Given the description of an element on the screen output the (x, y) to click on. 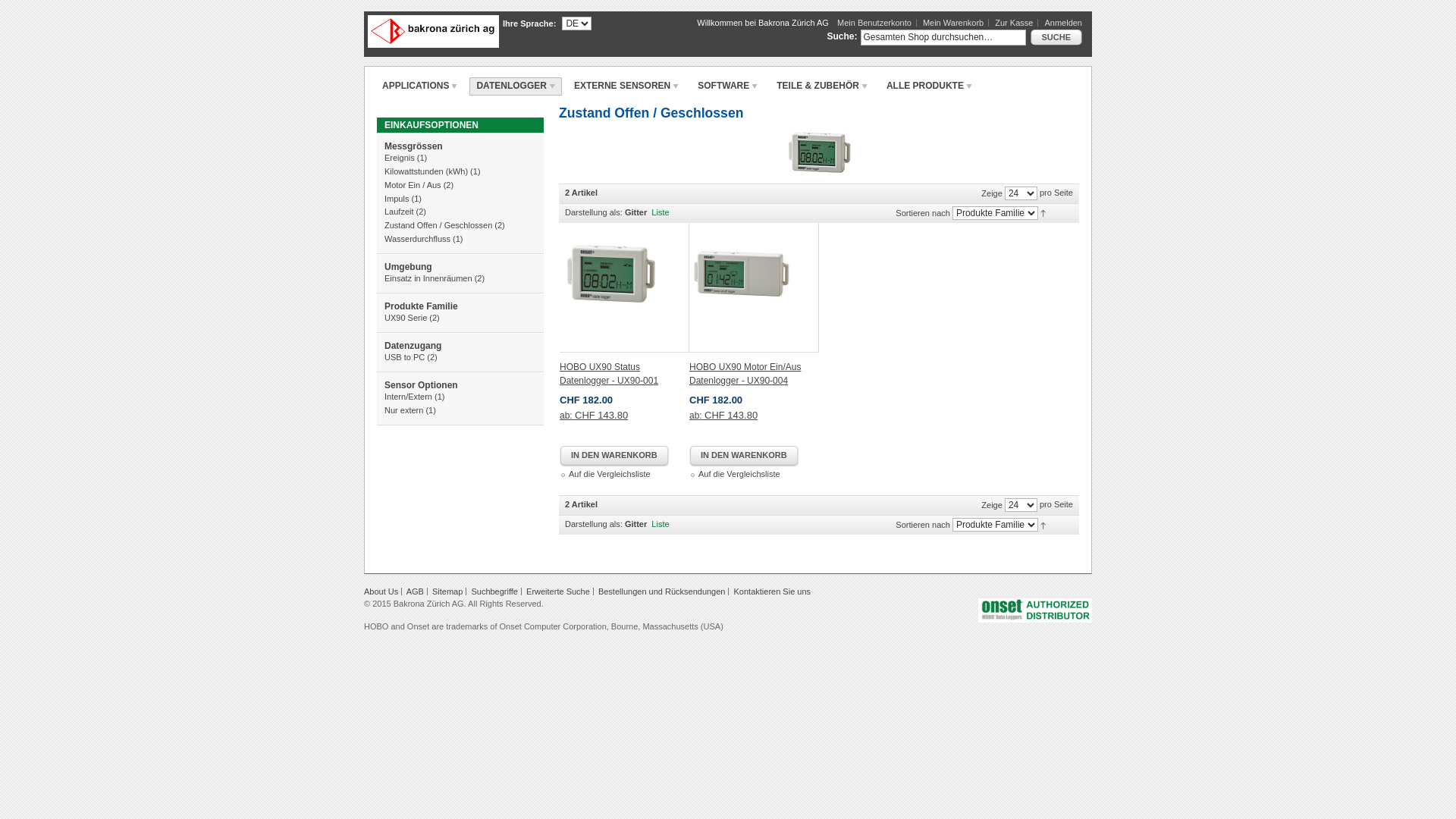
APPLICATIONS Element type: text (419, 86)
Anmelden Element type: text (1063, 22)
UX90 Serie Element type: text (405, 317)
Zustand Offen / Geschlossen Element type: text (438, 224)
Sitemap Element type: text (447, 591)
Wasserdurchfluss Element type: text (417, 238)
HOBO UX90 Motor On/Off Logger - UX90-004 Element type: hover (754, 287)
Zustand Offen / Geschlossen Element type: hover (818, 152)
Impuls Element type: text (396, 198)
HOBO UX90 Motor Ein/Aus Datenlogger - UX90-004 Element type: text (744, 373)
Liste Element type: text (659, 523)
DATENLOGGER Element type: text (515, 86)
USB to PC Element type: text (404, 356)
Intern/Extern Element type: text (408, 396)
IN DEN WARENKORB Element type: text (613, 456)
EXTERNE SENSOREN Element type: text (626, 86)
Mein Warenkorb Element type: text (955, 22)
Erweiterte Suche Element type: text (557, 591)
HOBO UX90 State Logger - UX90-001 Element type: hover (624, 287)
ALLE PRODUKTE Element type: text (929, 86)
Motor Ein / Aus Element type: text (412, 184)
Auf die Vergleichsliste Element type: text (739, 473)
SOFTWARE Element type: text (727, 86)
Kontaktieren Sie uns Element type: text (772, 591)
In absteigender Reihenfolge Element type: hover (1042, 523)
HOBO UX90 Status Datenlogger - UX90-001 Element type: text (608, 373)
SUCHE Element type: text (1055, 38)
AGB Element type: text (414, 591)
Suchbegriffe Element type: text (493, 591)
Zur Kasse Element type: text (1016, 22)
IN DEN WARENKORB Element type: text (743, 456)
In absteigender Reihenfolge Element type: hover (1042, 211)
Liste Element type: text (659, 211)
Mein Benutzerkonto Element type: text (876, 22)
Auf die Vergleichsliste Element type: text (609, 473)
Kilowattstunden (kWh) Element type: text (425, 170)
Ereignis Element type: text (399, 157)
Laufzeit Element type: text (399, 211)
About Us Element type: text (381, 591)
Nur extern Element type: text (403, 409)
